Given the description of an element on the screen output the (x, y) to click on. 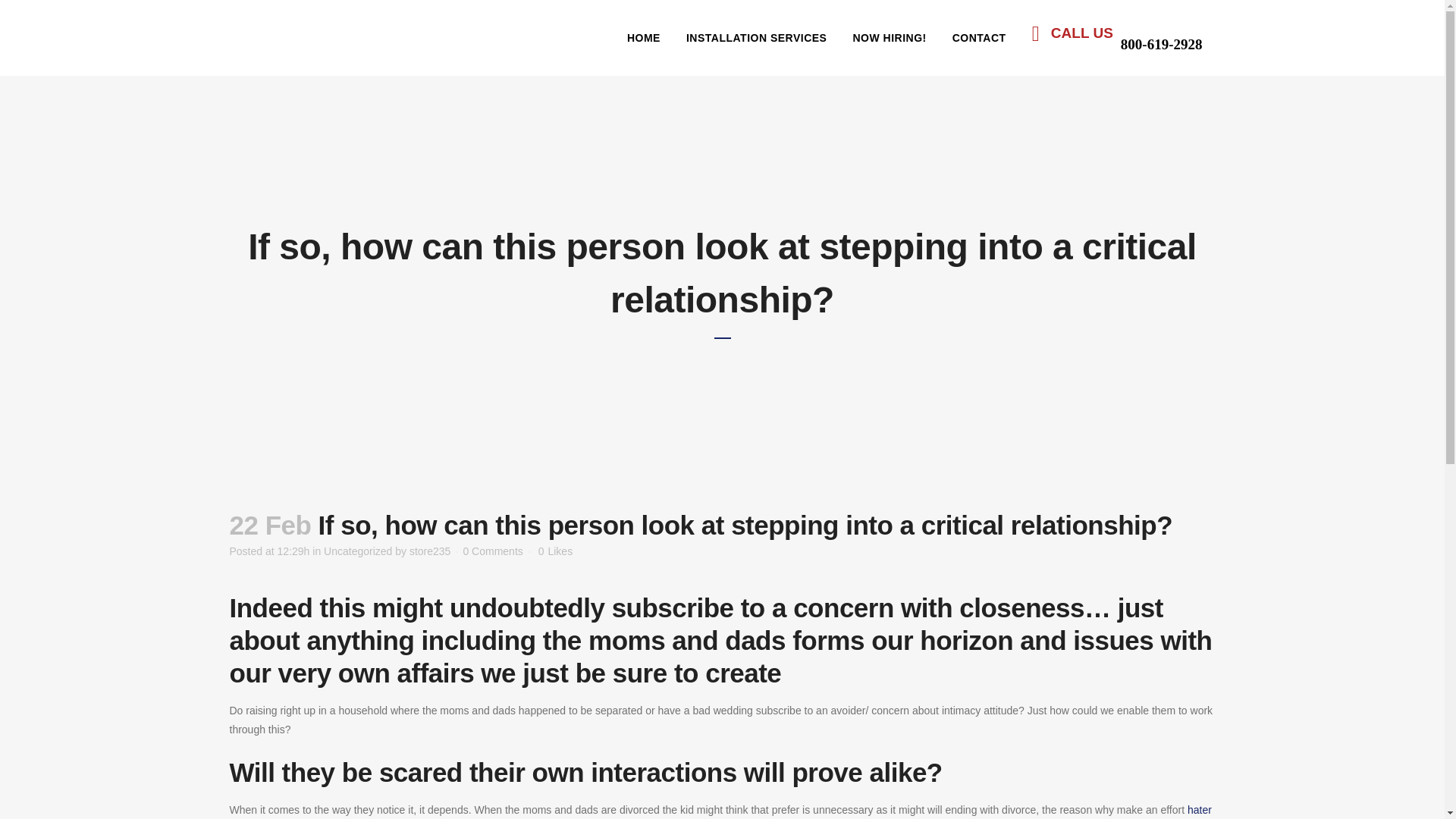
0 Comments (492, 551)
0 Likes (555, 551)
CONTACT (979, 38)
store235 (429, 551)
Like this (555, 551)
Uncategorized (357, 551)
NOW HIRING! (889, 38)
INSTALLATION SERVICES (756, 38)
hater indirim kodu (719, 811)
